Given the description of an element on the screen output the (x, y) to click on. 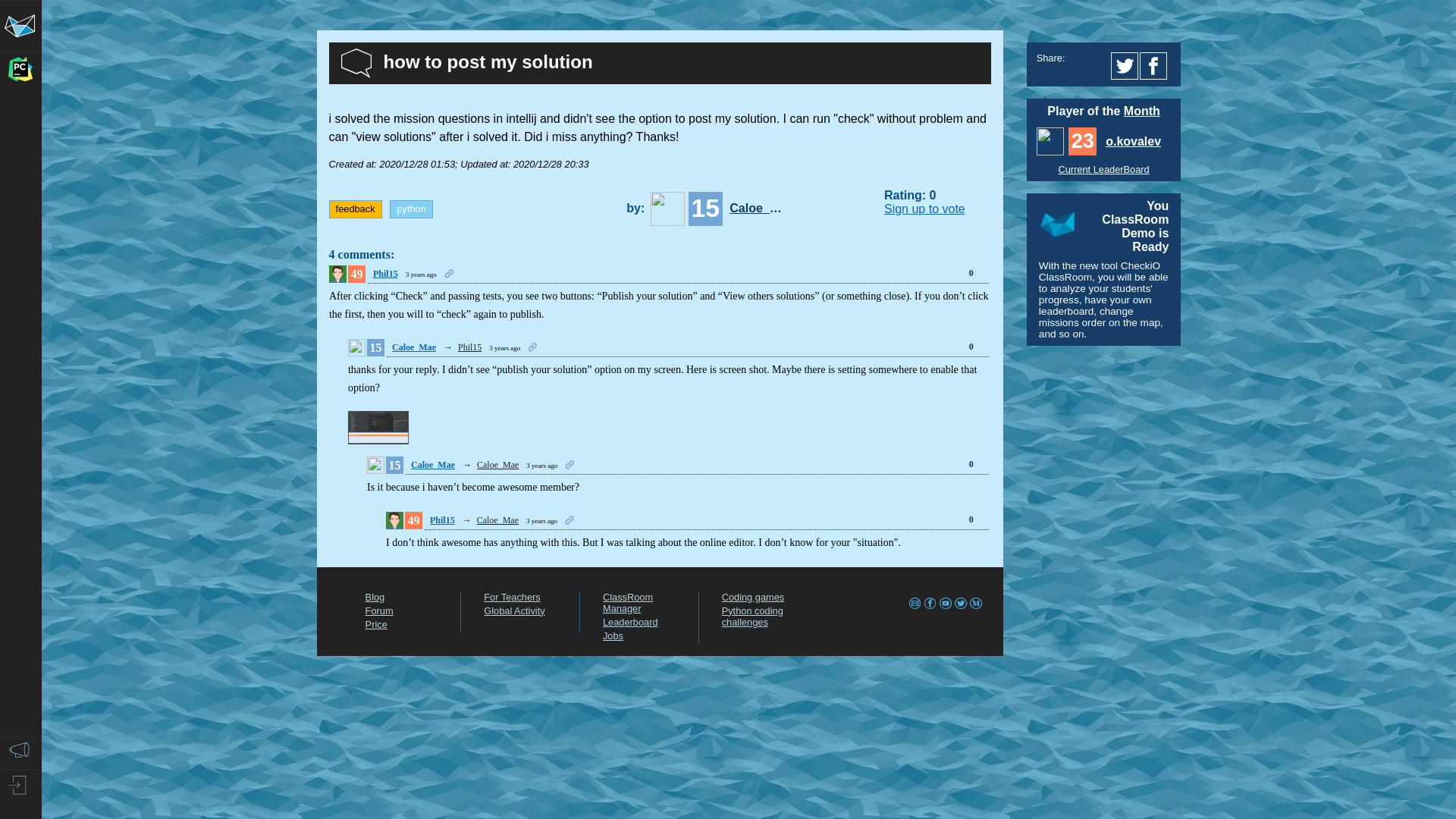
49 level (356, 273)
Comment votes (970, 273)
Share (451, 274)
Comment votes (970, 346)
Phil15 (384, 273)
49 (356, 273)
In reply to (469, 347)
Comment author (413, 347)
Share (534, 348)
Sign up to vote (924, 209)
